Given the description of an element on the screen output the (x, y) to click on. 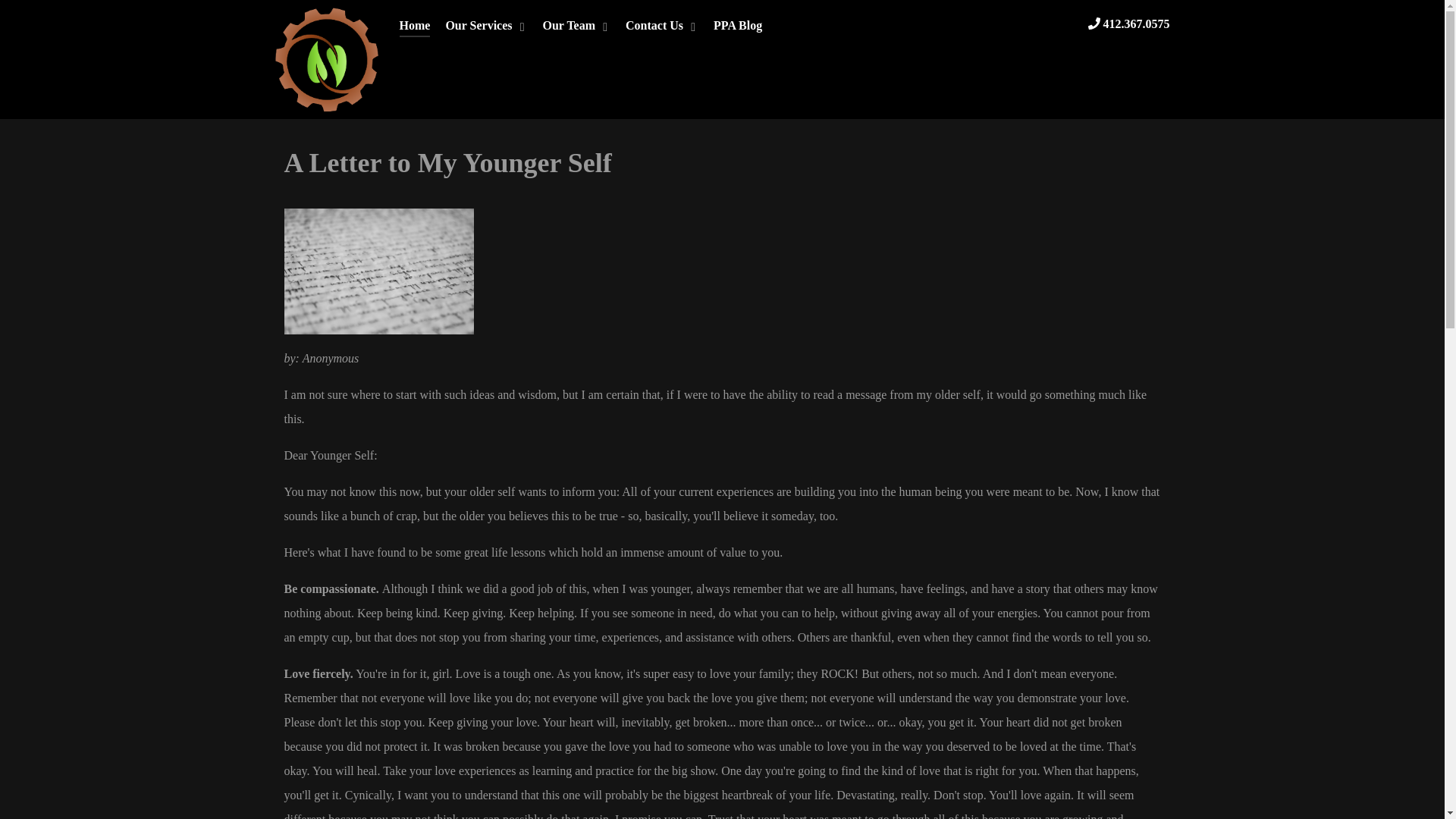
Home (413, 27)
Our Team (577, 27)
PPA Blog (737, 27)
